Given the description of an element on the screen output the (x, y) to click on. 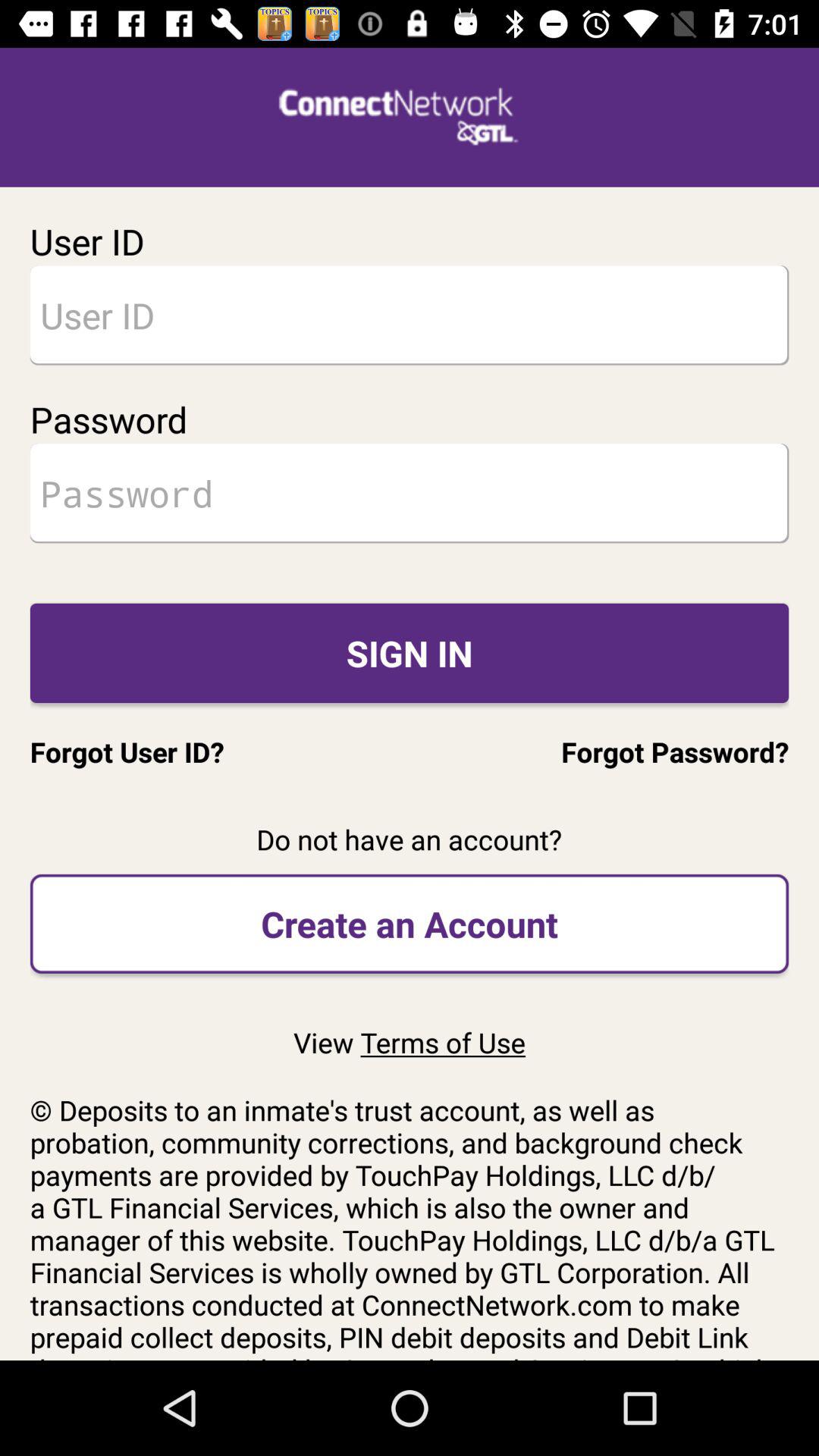
username (409, 315)
